Given the description of an element on the screen output the (x, y) to click on. 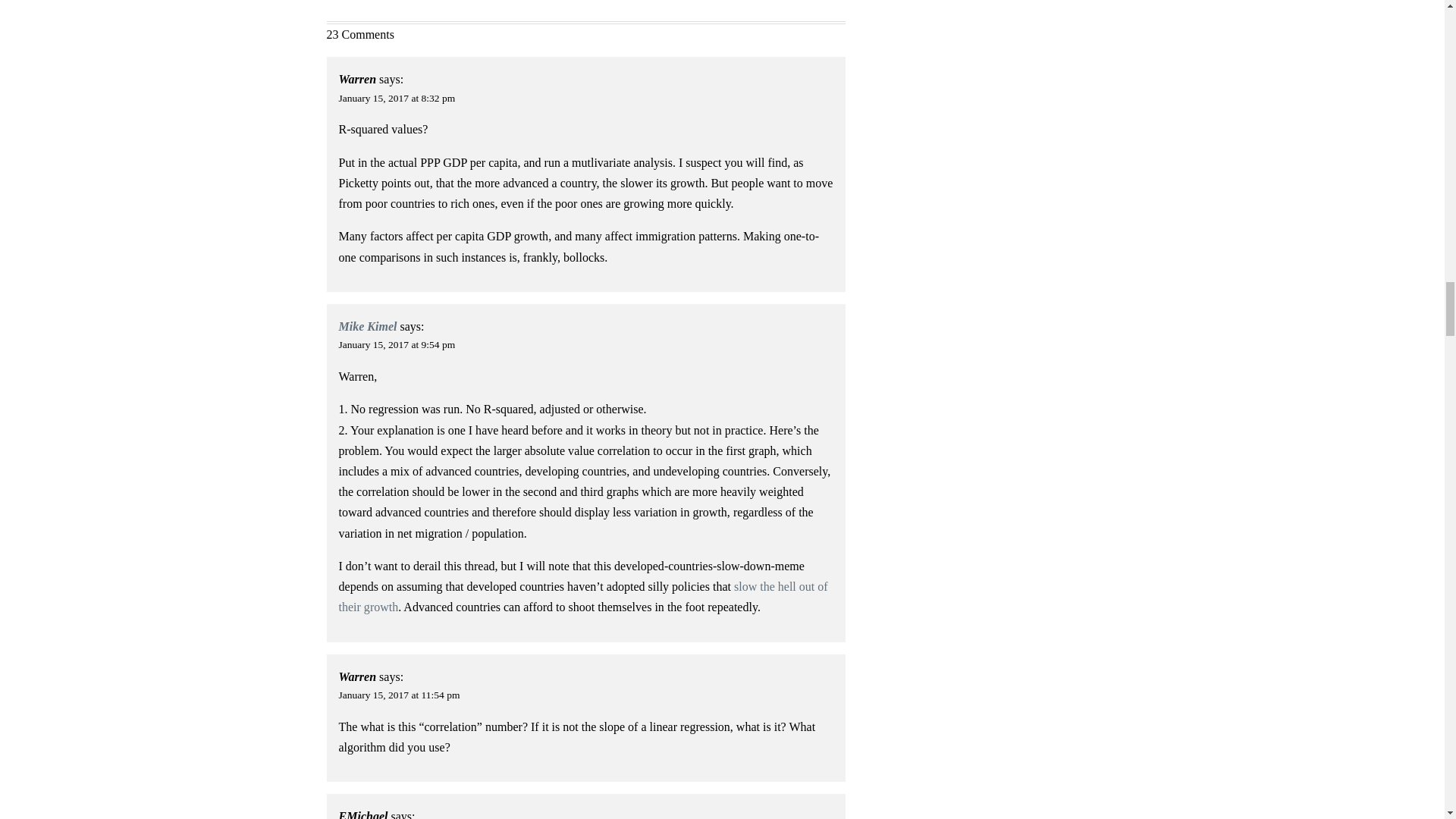
January 15, 2017 at 11:54 pm (399, 695)
slow the hell out of their growth (583, 596)
Mike Kimel (368, 326)
January 15, 2017 at 8:32 pm (397, 98)
January 15, 2017 at 9:54 pm (397, 344)
